Given the description of an element on the screen output the (x, y) to click on. 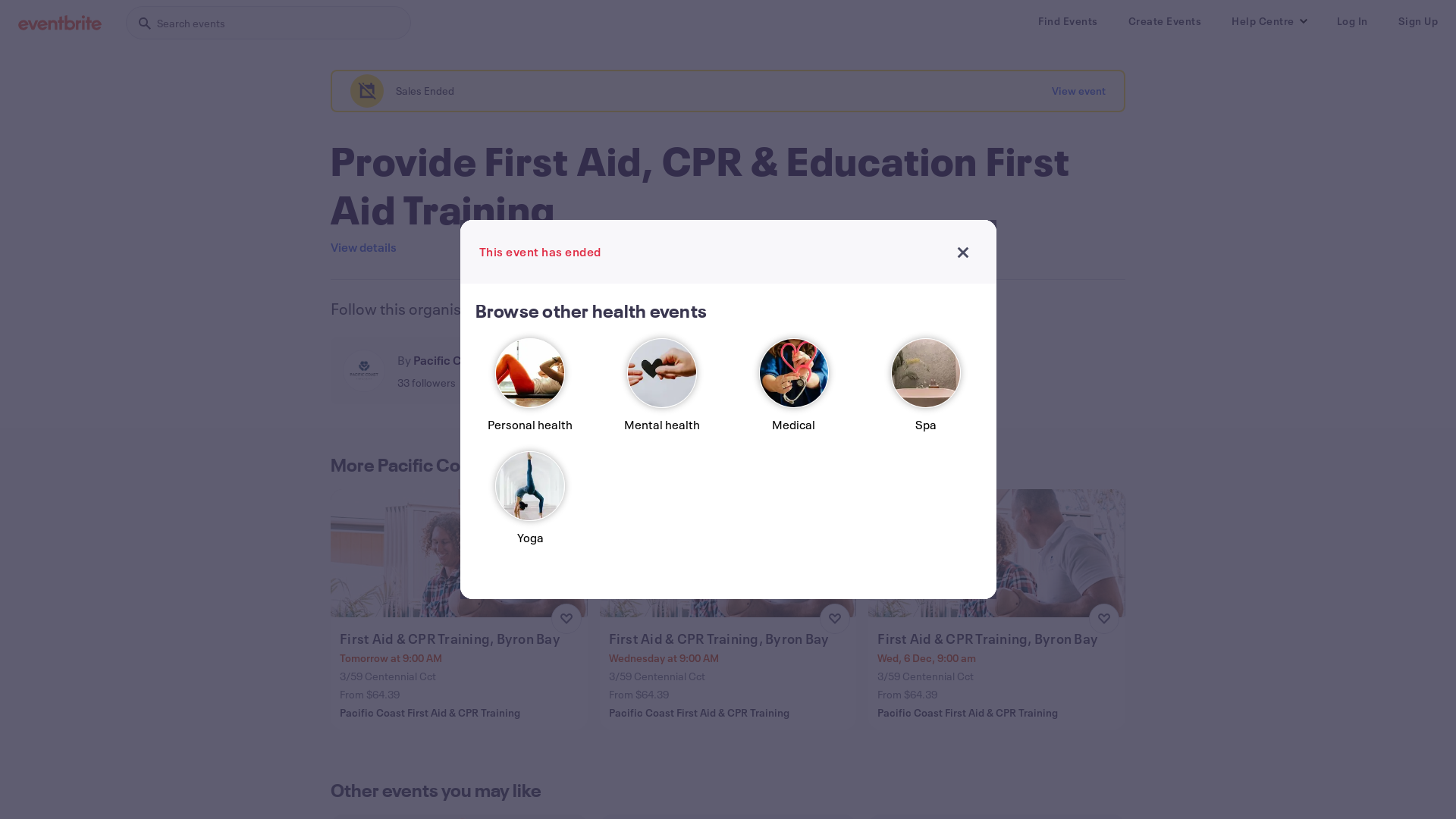
Yoga Element type: text (530, 504)
Mental health Element type: text (661, 391)
Find Events Element type: text (1068, 21)
First Aid & CPR Training, Byron Bay Element type: text (729, 638)
Log In Element type: text (1351, 21)
View event Element type: text (1078, 90)
Search events Element type: text (268, 22)
First Aid & CPR Training, Byron Bay Element type: text (998, 638)
View details Element type: text (363, 246)
Eventbrite Element type: hover (59, 22)
Personal health Element type: text (530, 391)
Sign Up Element type: text (1418, 21)
Create Events Element type: text (1165, 21)
Follow Element type: text (664, 370)
Spa Element type: text (925, 391)
First Aid & CPR Training, Byron Bay Element type: text (460, 638)
Medical Element type: text (793, 391)
